Given the description of an element on the screen output the (x, y) to click on. 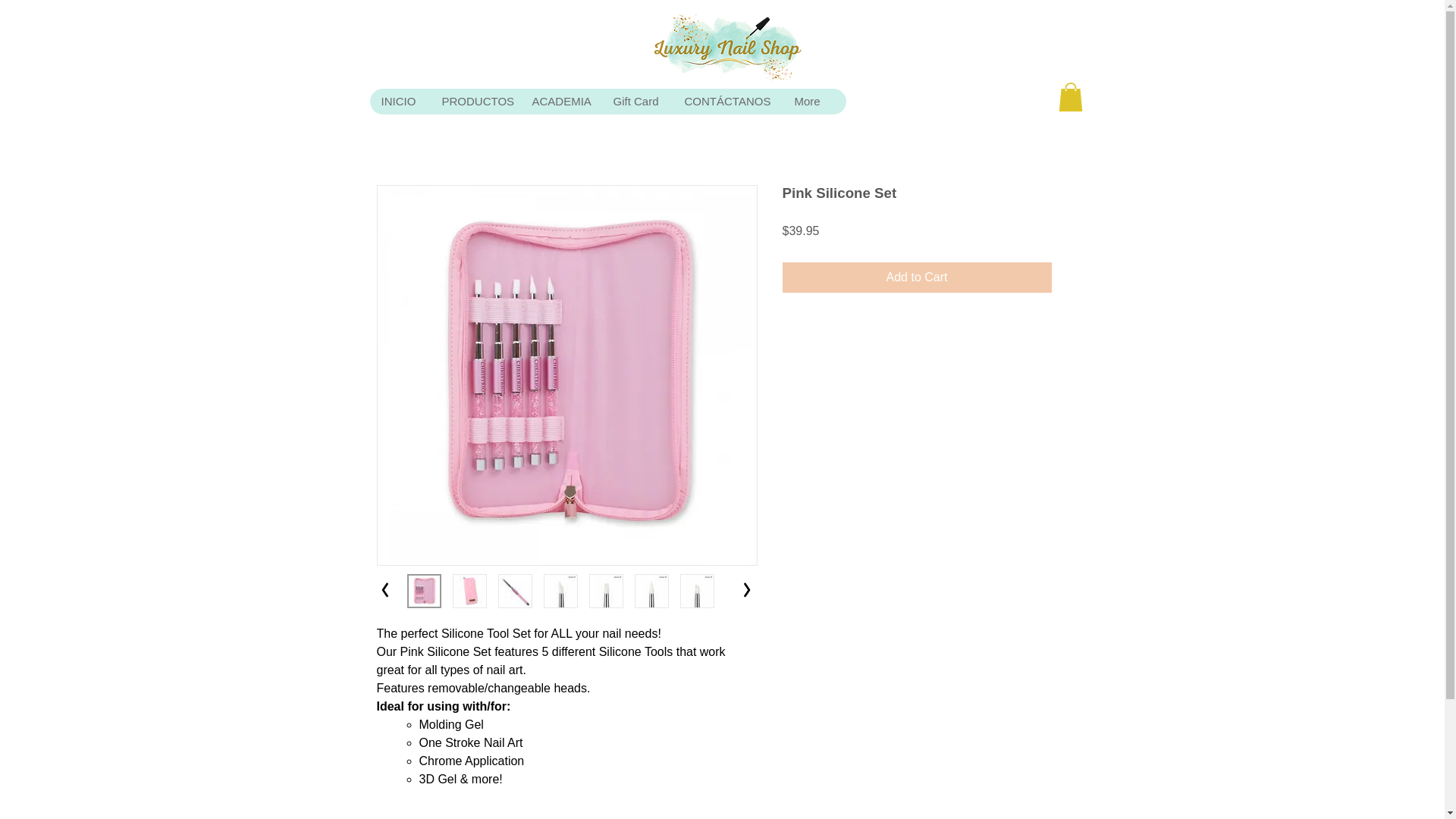
Add to Cart (917, 277)
Gift Card (635, 101)
PRODUCTOS (474, 101)
Logo final LNS- NO BACKGROUND.png (727, 47)
INICIO (399, 101)
ACADEMIA (560, 101)
